Given the description of an element on the screen output the (x, y) to click on. 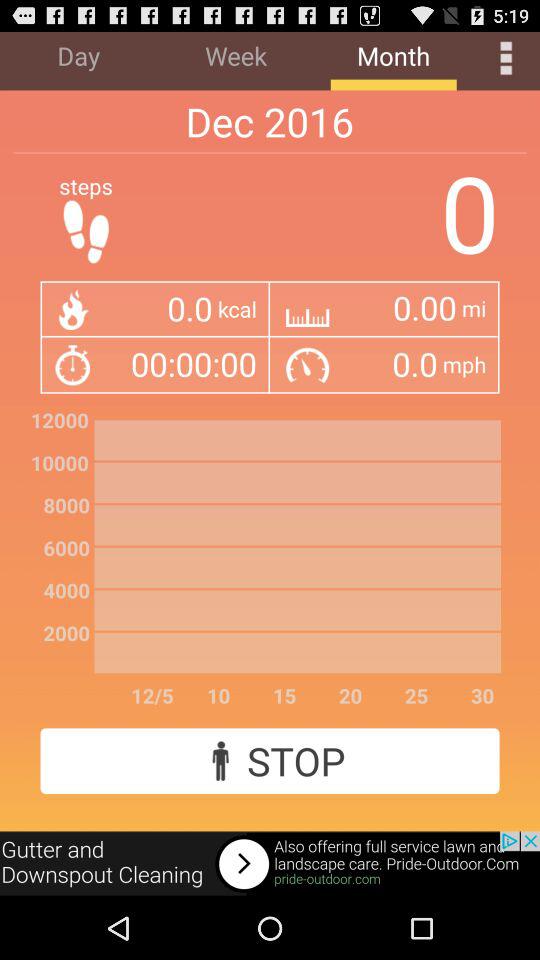
advertisement banner (270, 864)
